Given the description of an element on the screen output the (x, y) to click on. 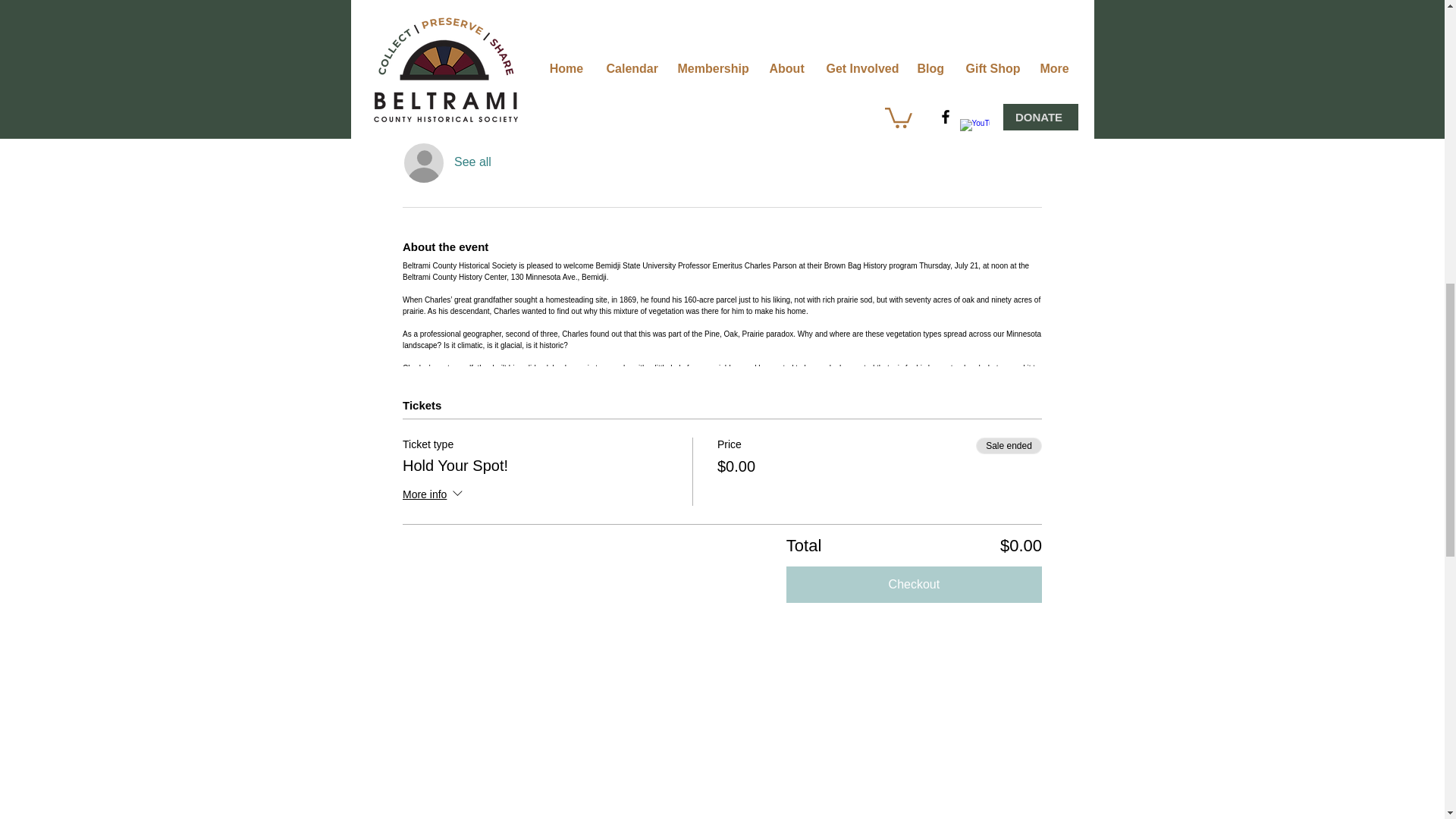
Checkout (914, 584)
See all (473, 161)
More info (434, 495)
